Given the description of an element on the screen output the (x, y) to click on. 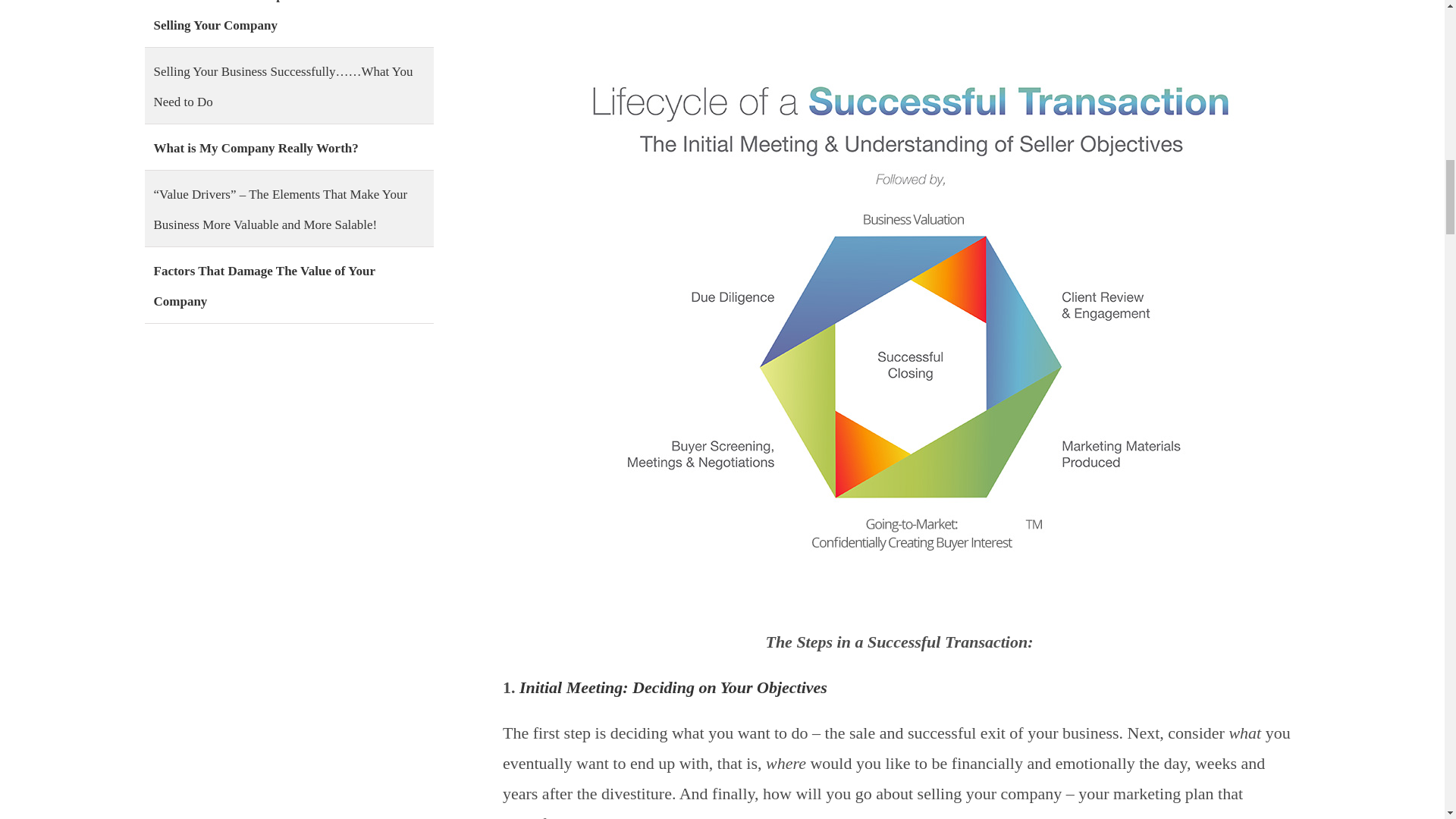
Initial Meeting: Deciding on Your Objectives (673, 687)
